Given the description of an element on the screen output the (x, y) to click on. 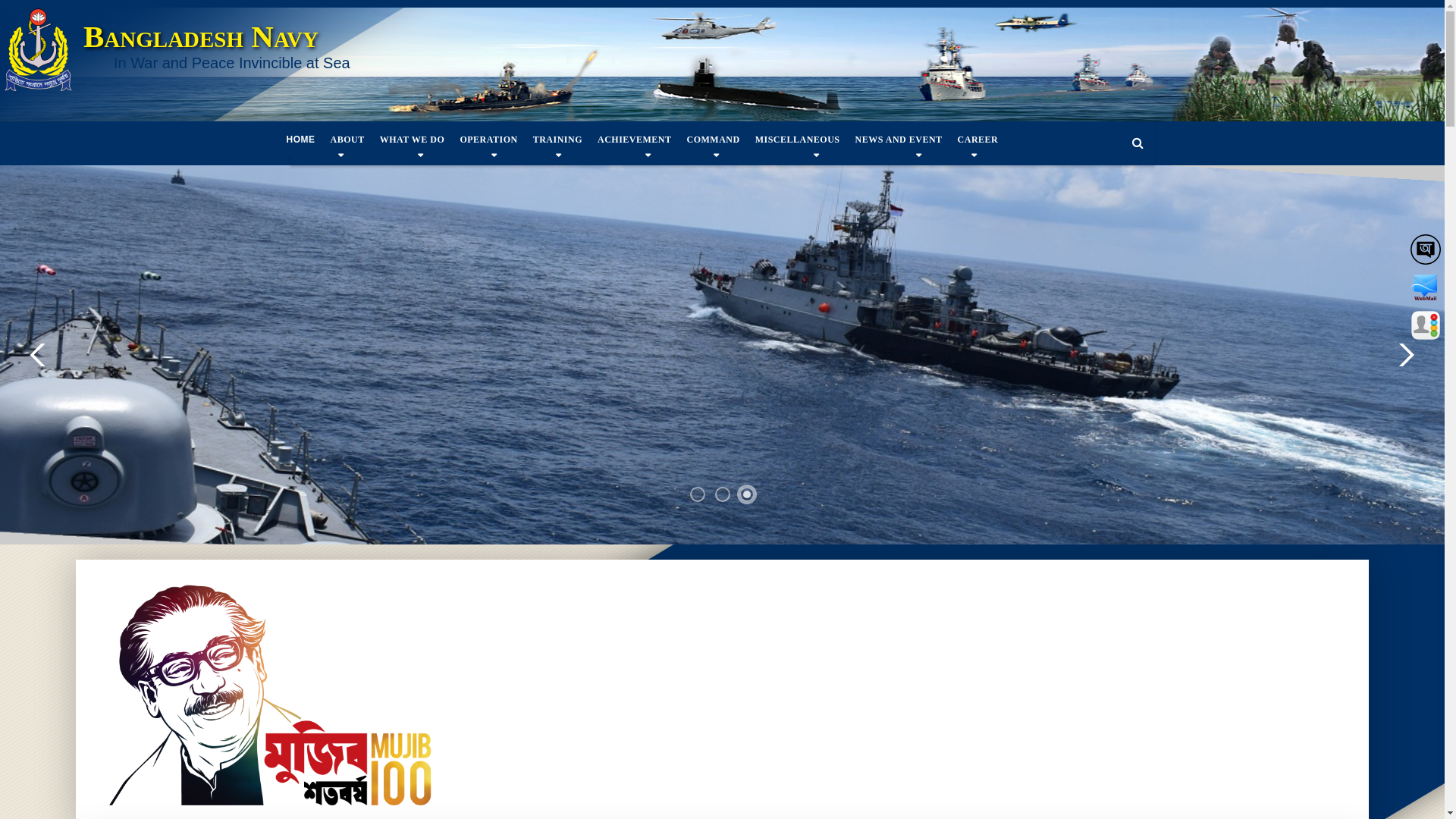
NEWS AND EVENT Element type: text (898, 139)
Search Element type: hover (1137, 143)
Bangladesh Navy Element type: text (200, 35)
COMMAND Element type: text (713, 139)
TRAINING Element type: text (557, 139)
ABOUT Element type: text (347, 139)
ACHIEVEMENT Element type: text (634, 139)
CAREER Element type: text (978, 139)
WHAT WE DO Element type: text (412, 139)
MISCELLANEOUS Element type: text (797, 139)
HOME Element type: text (301, 139)
OPERATION Element type: text (487, 139)
